Given the description of an element on the screen output the (x, y) to click on. 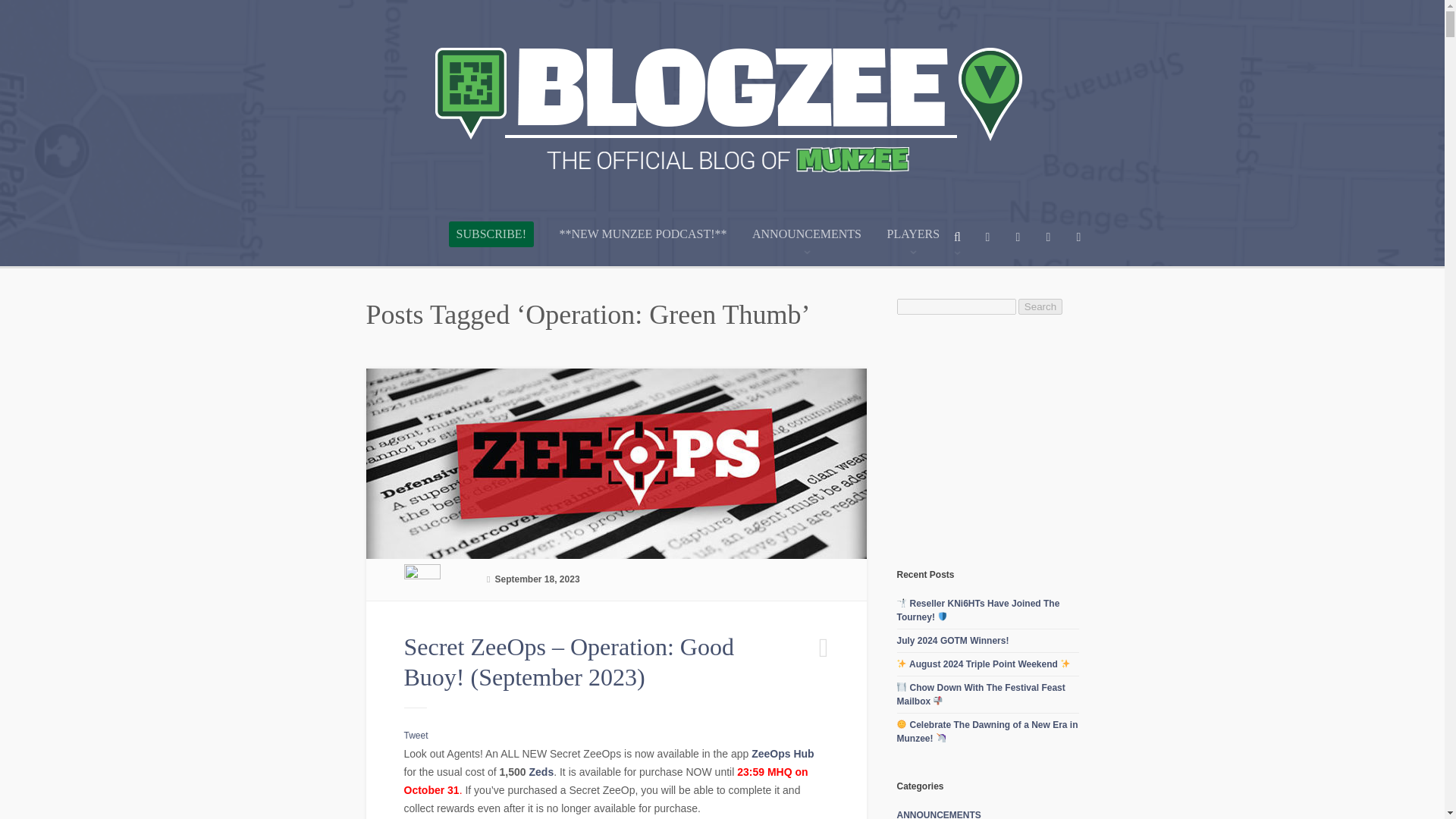
Search (1039, 306)
Zeds (539, 771)
PLAYERS (913, 246)
ANNOUNCEMENTS (806, 246)
SUBSCRIBE! (491, 234)
ZeeOps Hub (782, 753)
Tweet (415, 735)
Advertisement (1010, 439)
